Given the description of an element on the screen output the (x, y) to click on. 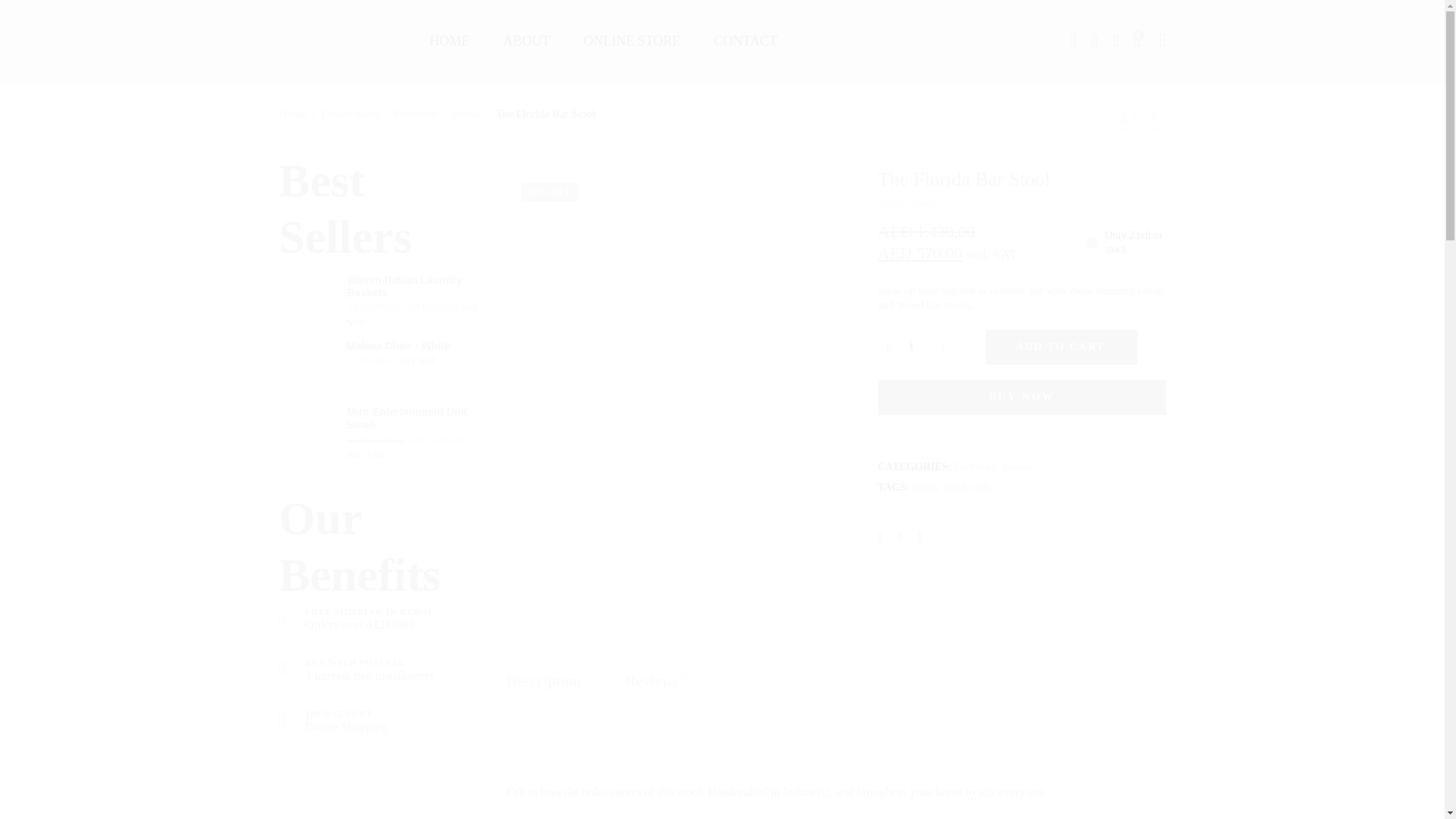
ONLINE STORE (631, 41)
Qty (917, 347)
1 (917, 347)
ABOUT (526, 41)
HOME (448, 41)
